Given the description of an element on the screen output the (x, y) to click on. 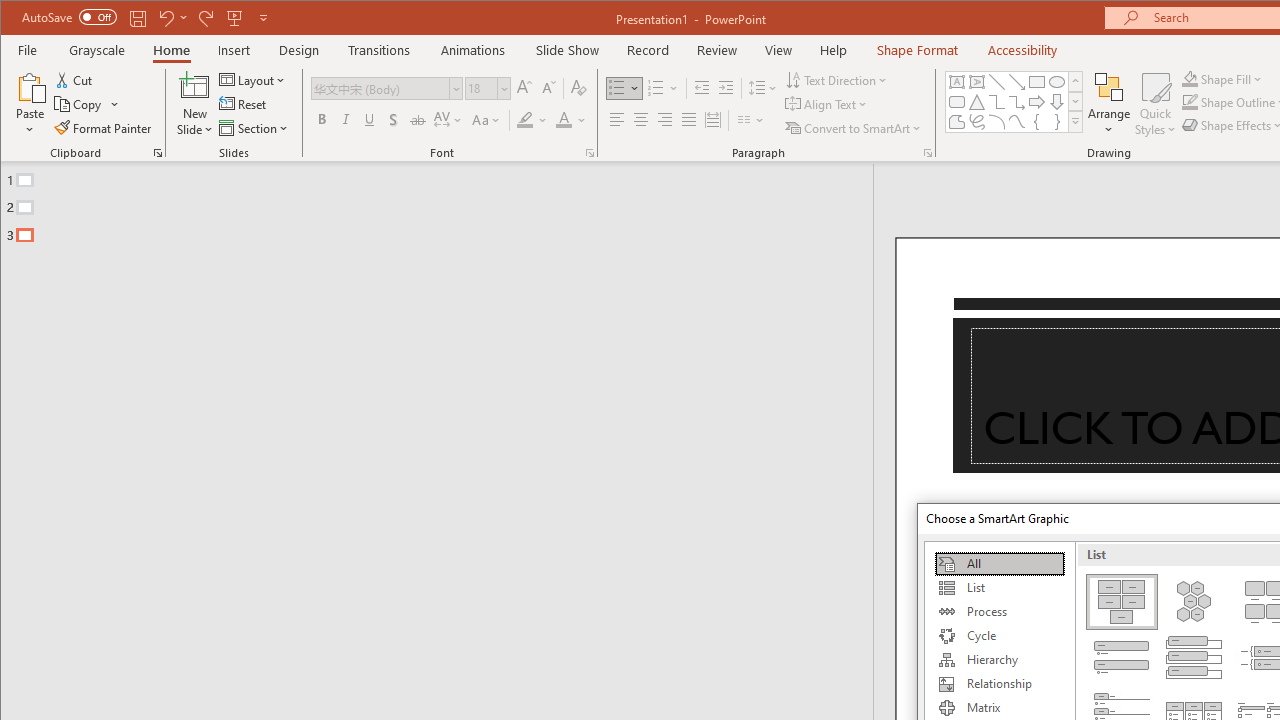
All (999, 564)
List (999, 587)
Alternating Hexagons (1194, 601)
Matrix (999, 708)
